Given the description of an element on the screen output the (x, y) to click on. 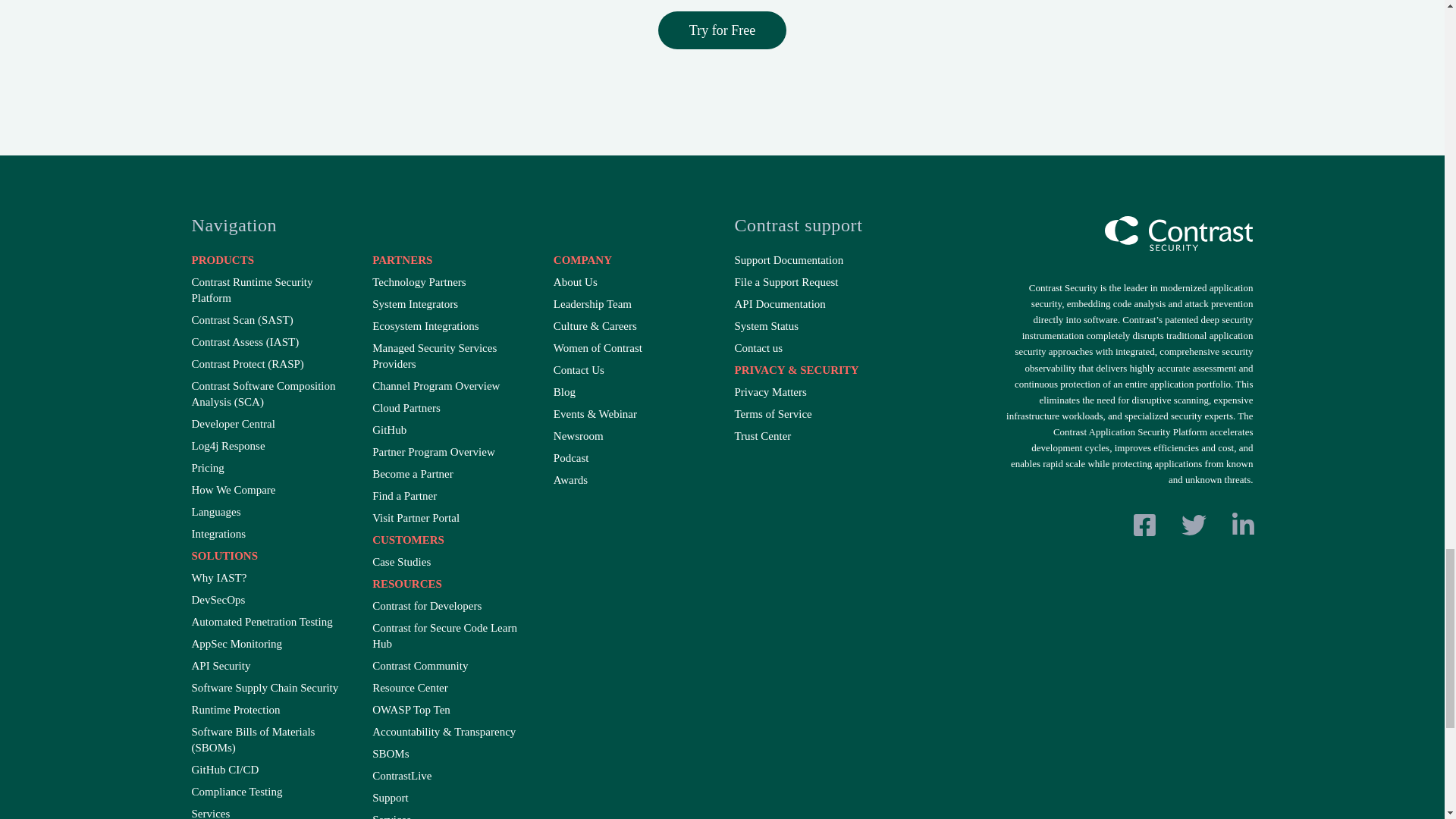
Integrations (268, 534)
Services (268, 812)
Developer Central (268, 424)
PRODUCTS (268, 260)
SOLUTIONS (268, 555)
Runtime Protection (268, 709)
Compliance Testing (268, 791)
Contrast Runtime Security Platform (268, 290)
API Security (268, 666)
AppSec Monitoring (268, 643)
Software Supply Chain Security (268, 688)
Languages (268, 512)
Why IAST? (268, 578)
Automated Penetration Testing (268, 621)
How We Compare (268, 489)
